Given the description of an element on the screen output the (x, y) to click on. 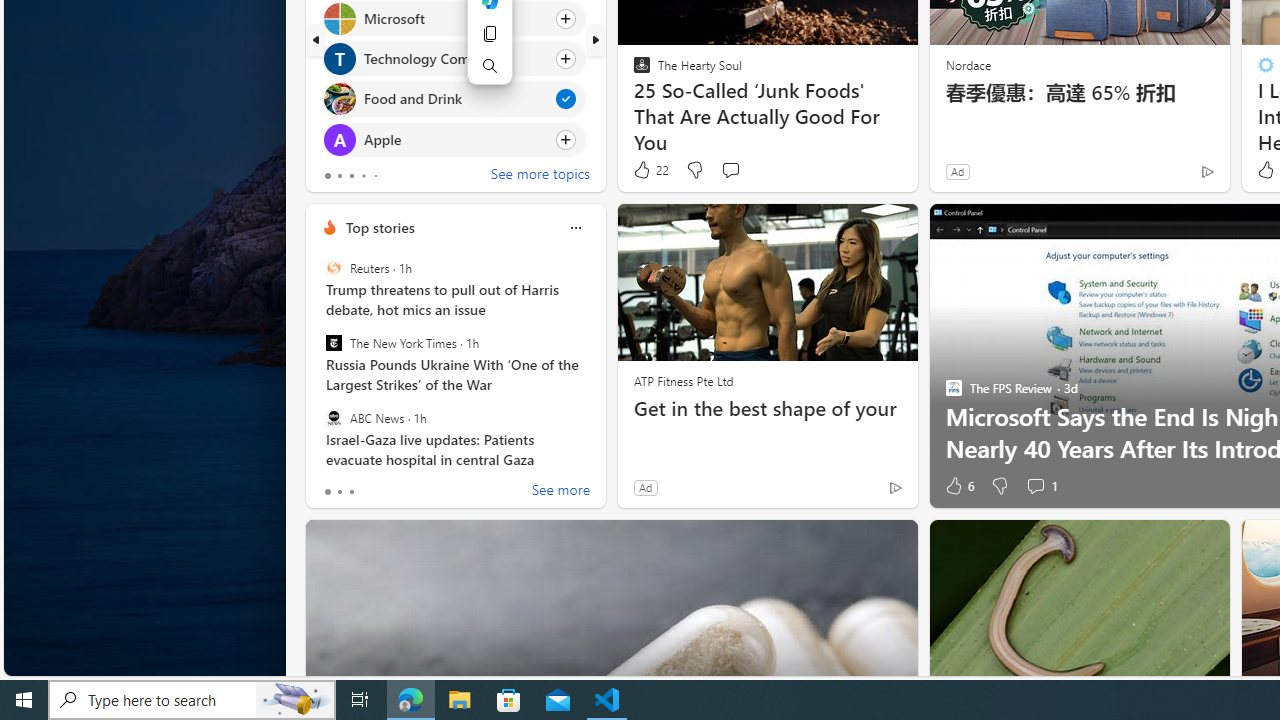
22 Like (650, 170)
The New York Times (333, 343)
Get in the best shape of your (767, 408)
tab-2 (351, 491)
Click to follow topic Apple (453, 138)
Class: icon-img (575, 228)
tab-3 (363, 175)
tab-4 (374, 175)
Click to unfollow topic Food and Drink (453, 99)
ABC News (333, 417)
See more topics (540, 175)
